Given the description of an element on the screen output the (x, y) to click on. 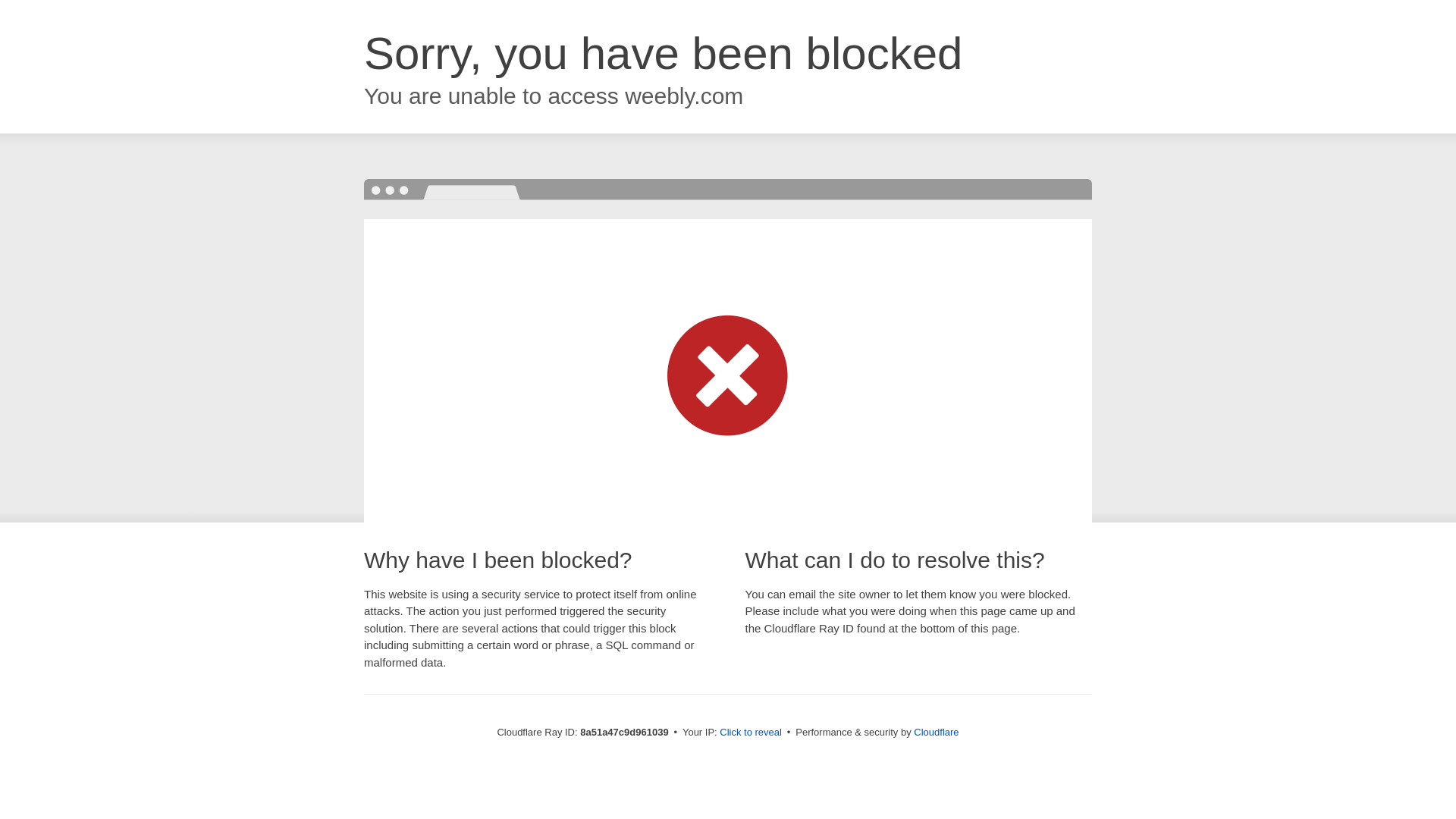
Click to reveal (750, 732)
Cloudflare (936, 731)
